Given the description of an element on the screen output the (x, y) to click on. 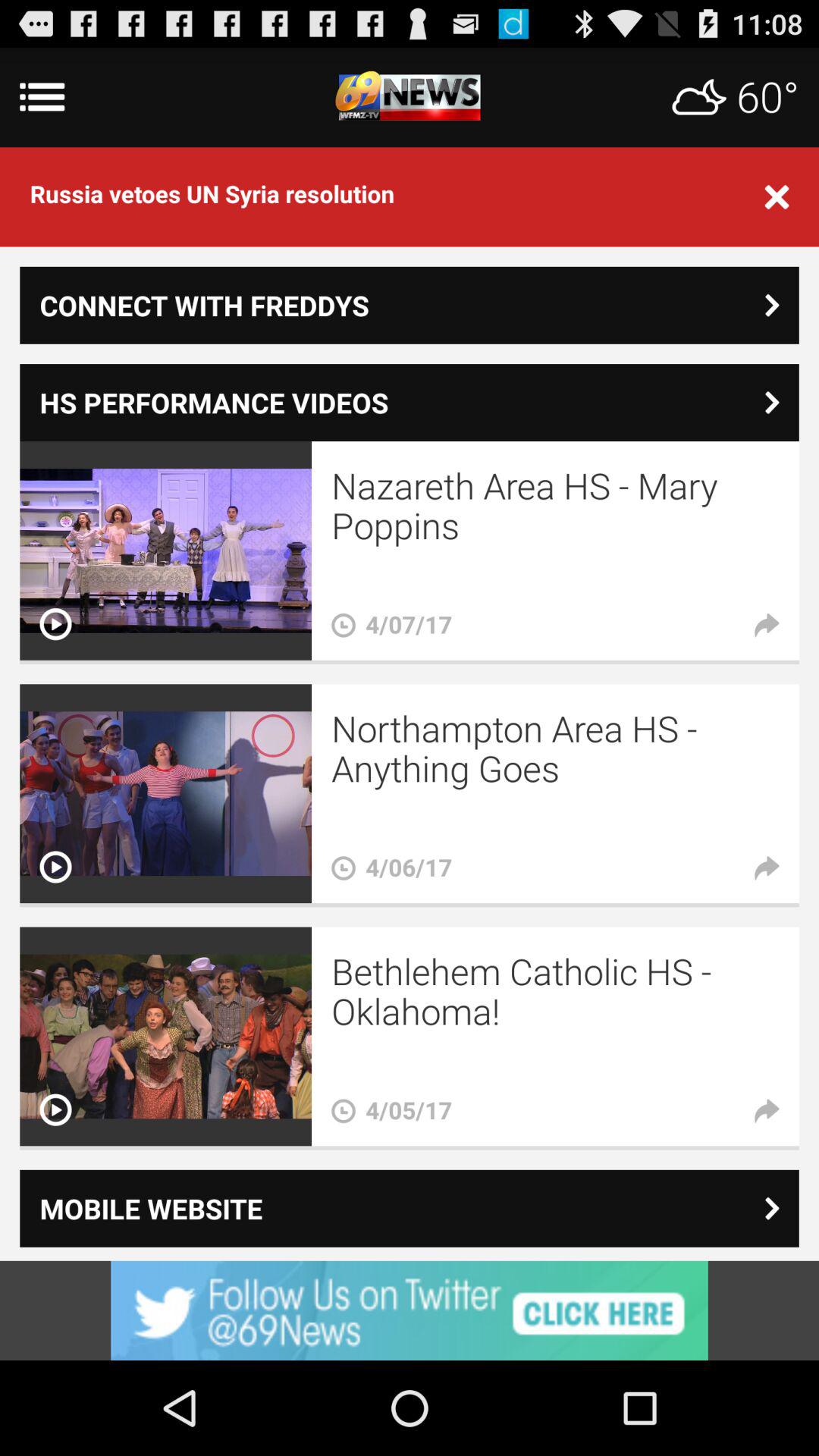
click to visit advertiser (409, 1310)
